Given the description of an element on the screen output the (x, y) to click on. 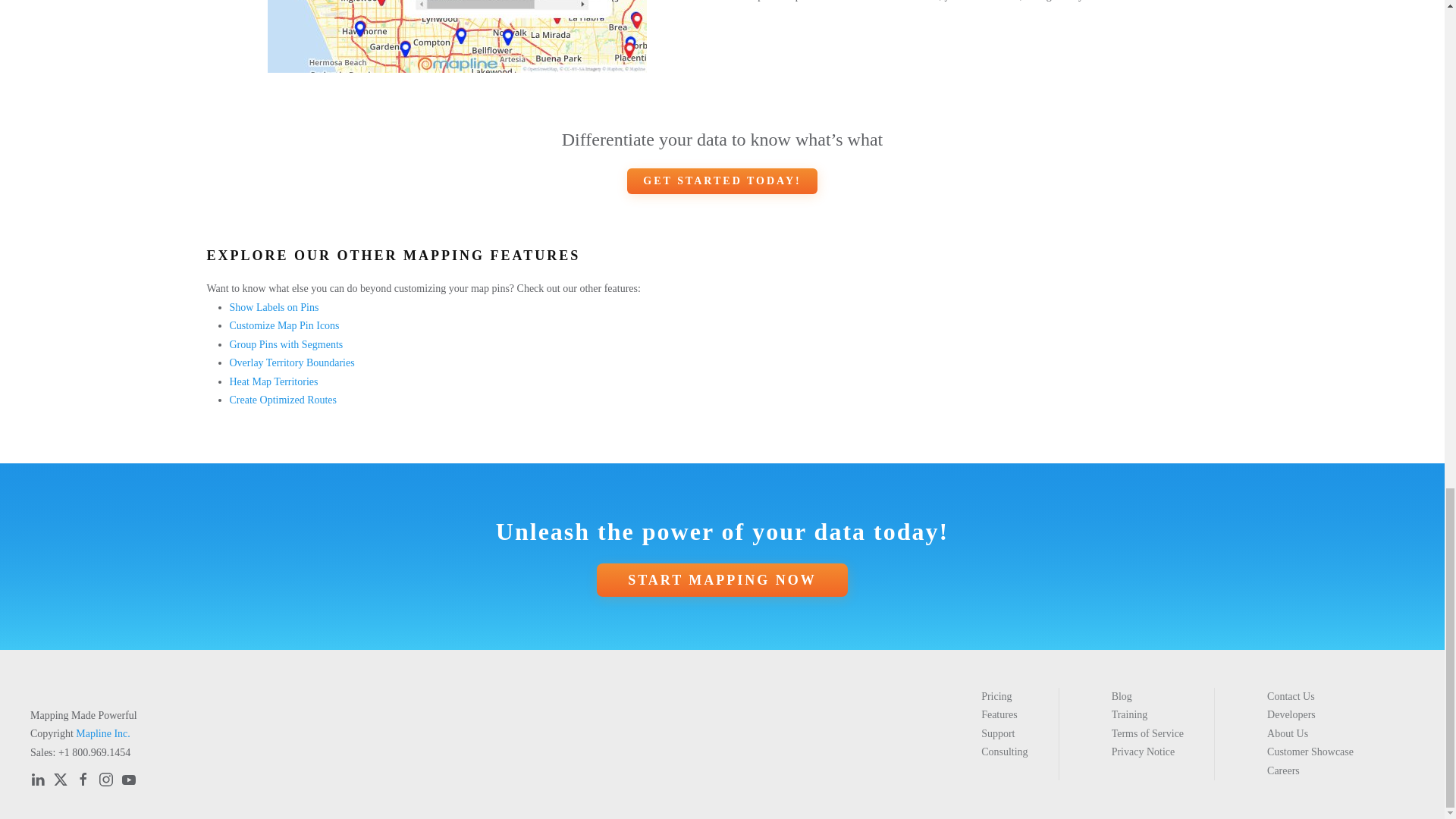
GET STARTED TODAY! (721, 181)
Customize Map Pin Icons (283, 325)
Show Labels on Pins (273, 307)
